Given the description of an element on the screen output the (x, y) to click on. 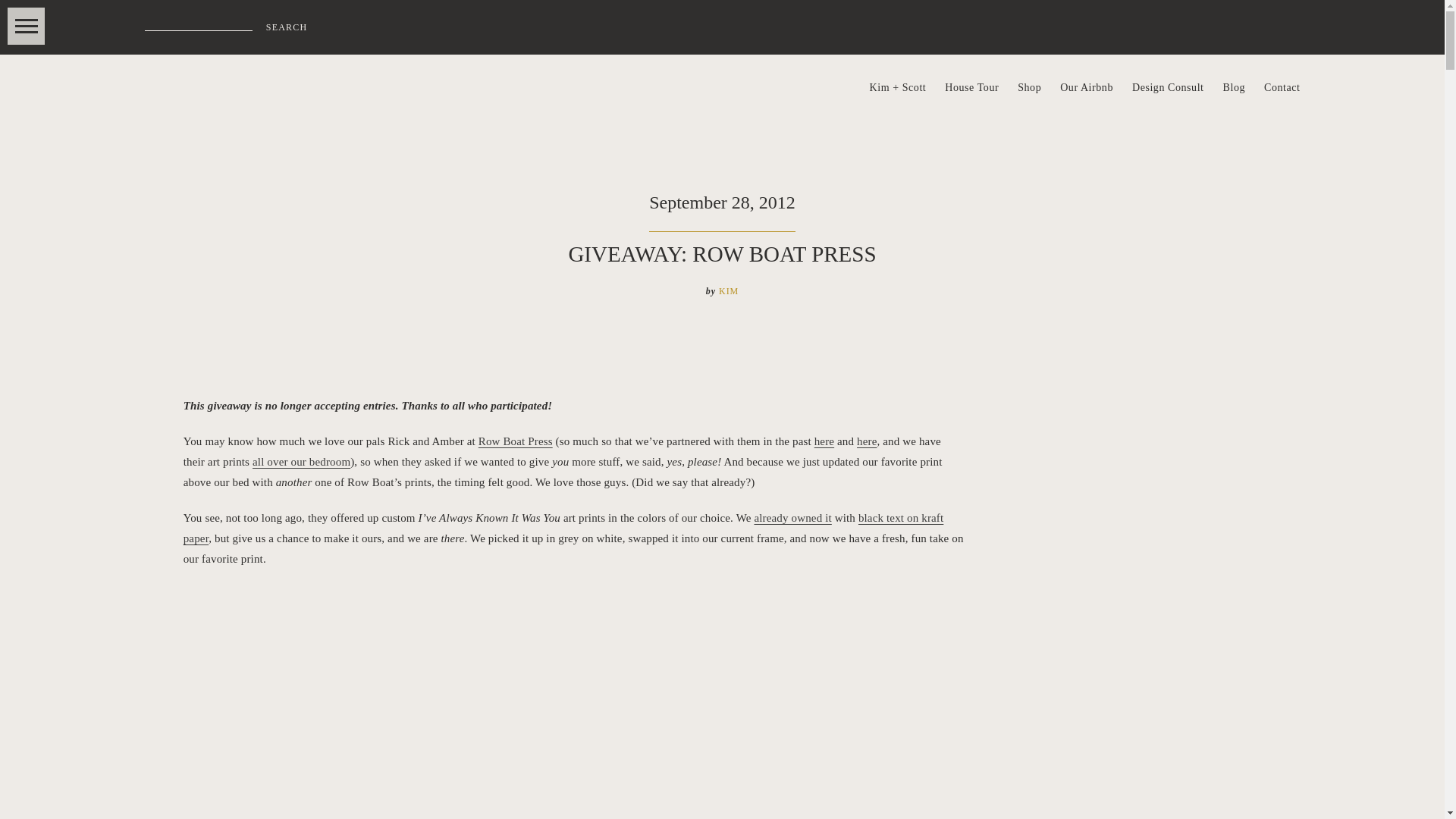
Search (286, 27)
House Tour (971, 87)
Search (286, 27)
Giveaway: Row Boat Press (823, 440)
Giveaway: Row Boat Press (866, 440)
